Given the description of an element on the screen output the (x, y) to click on. 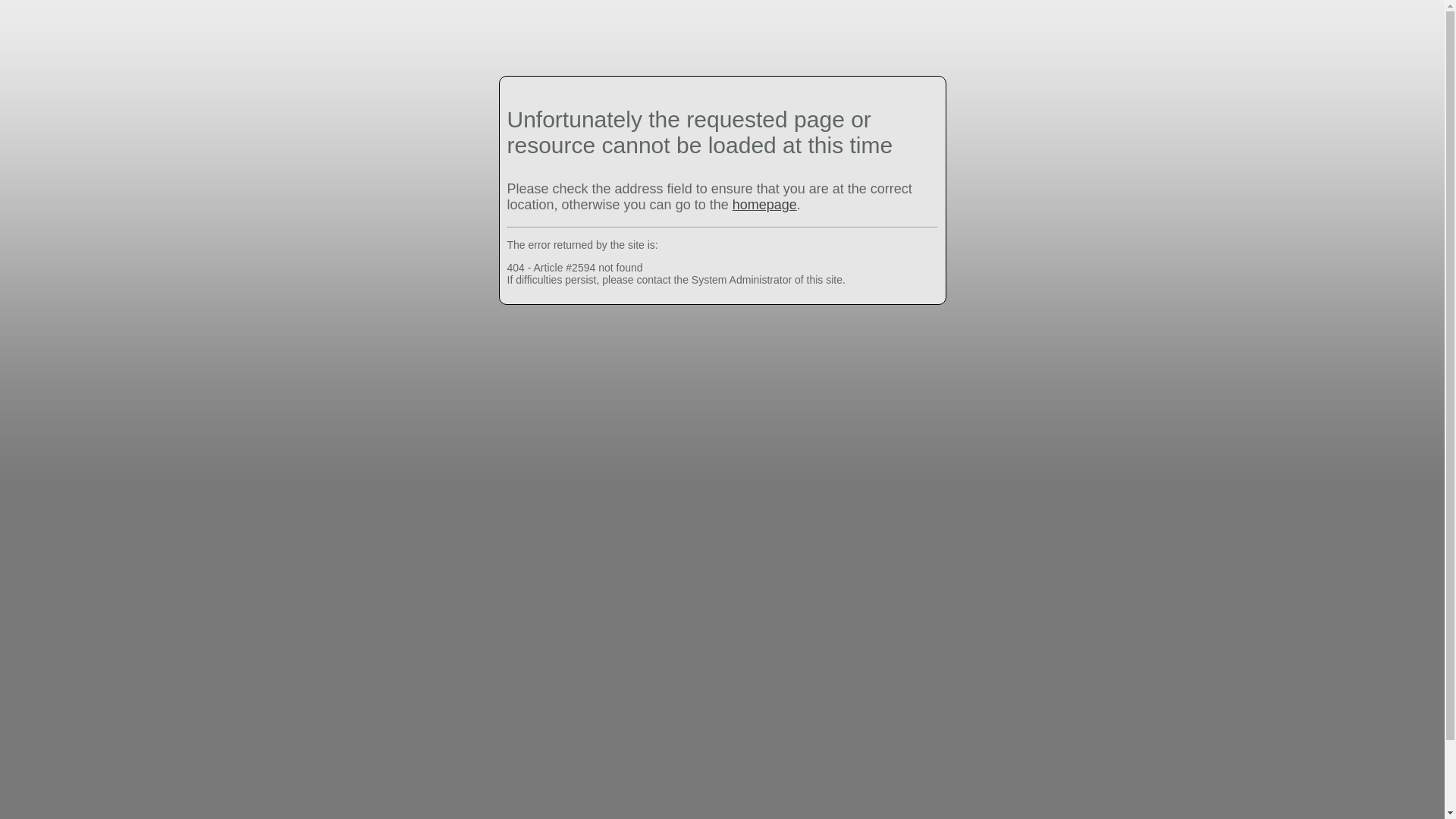
homepage Element type: text (764, 204)
